Given the description of an element on the screen output the (x, y) to click on. 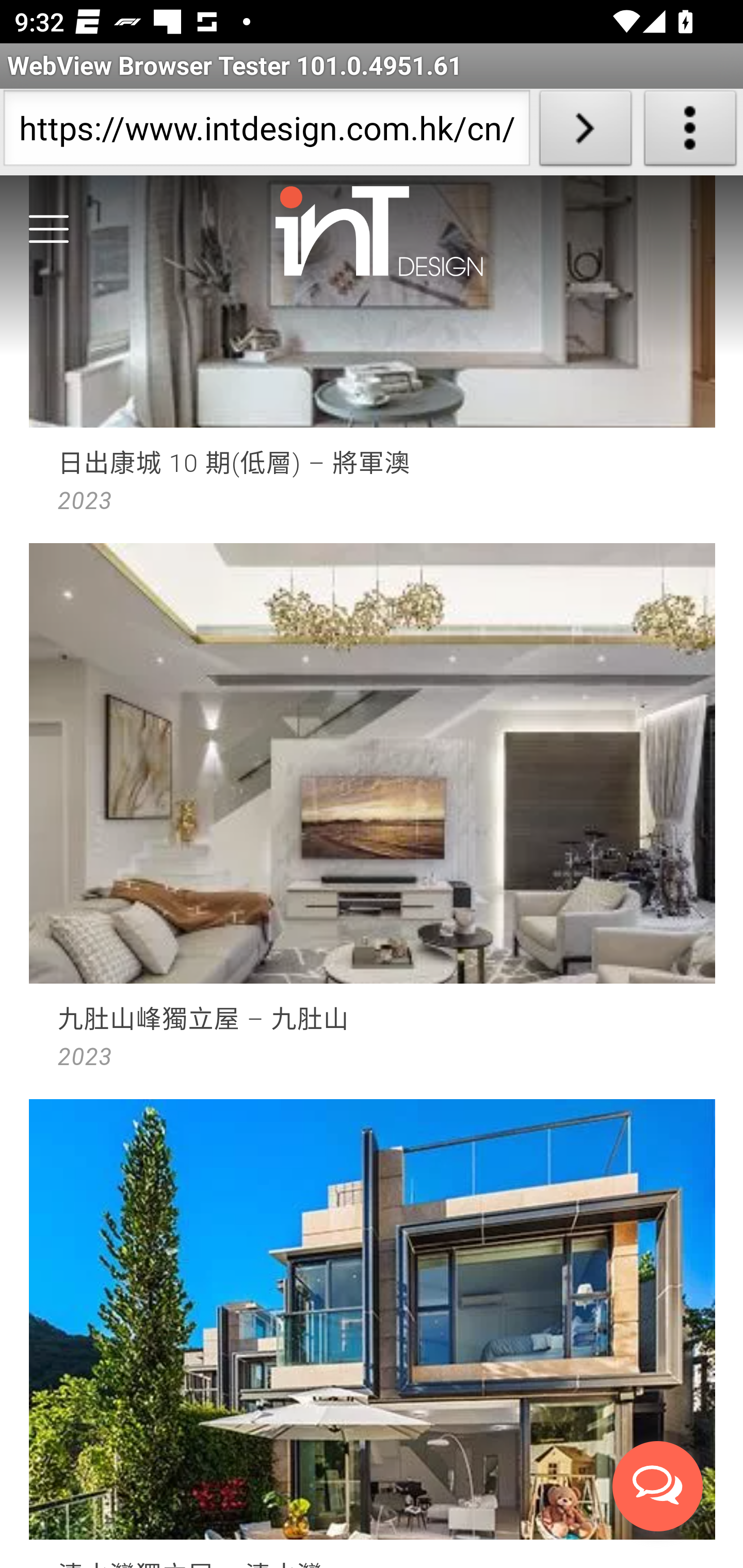
Load URL (585, 132)
About WebView (690, 132)
lohas-park-10 (372, 356)
kau-to-highland (372, 817)
clear-water-bay-villa-house (372, 1332)
Open messengers list (657, 1487)
